Given the description of an element on the screen output the (x, y) to click on. 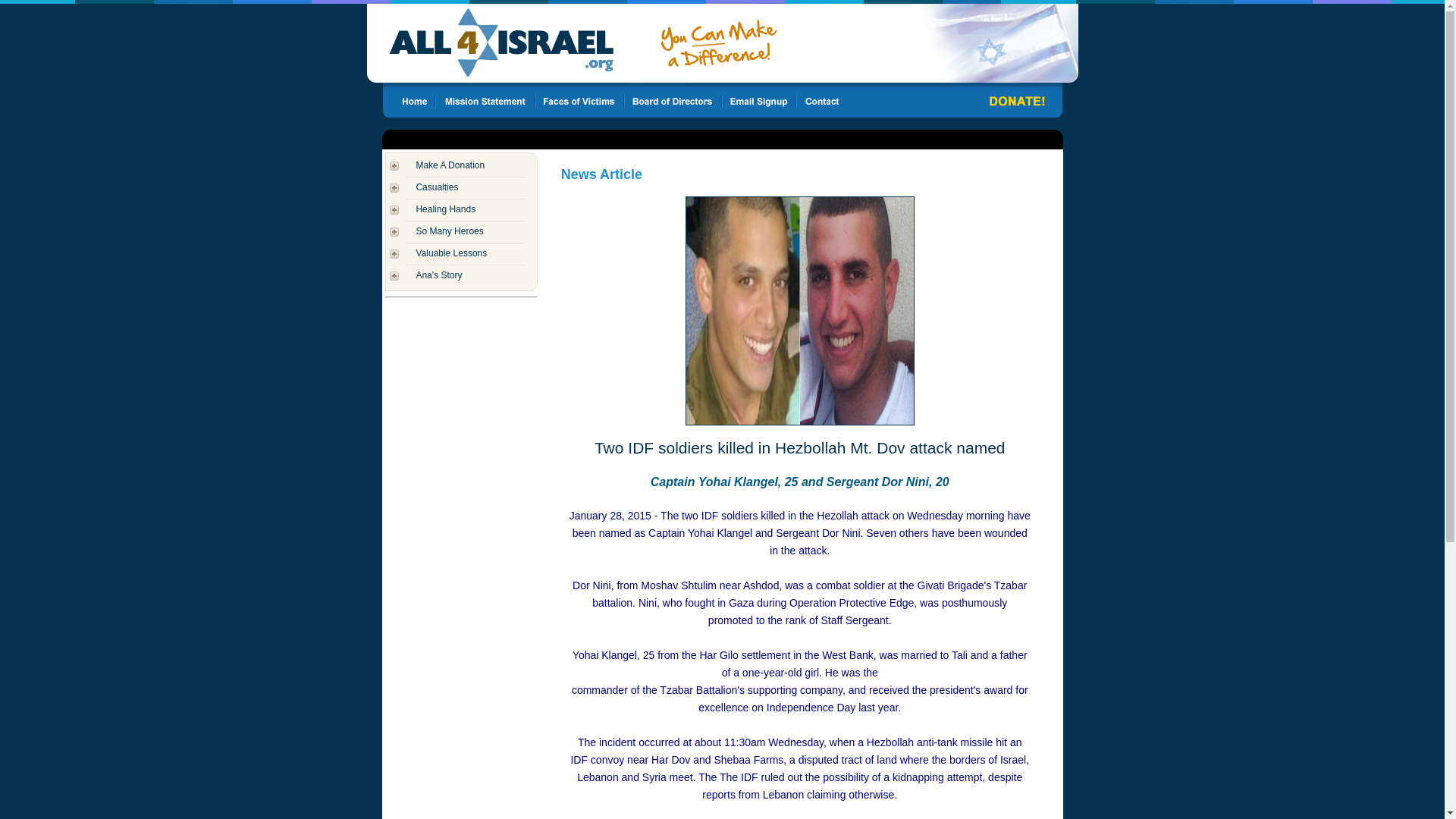
Valuable Lessons (450, 253)
Make A Donation (449, 164)
Healing Hands (445, 208)
So Many Heroes (448, 231)
Ana's Story (437, 275)
Casualties (436, 186)
